Given the description of an element on the screen output the (x, y) to click on. 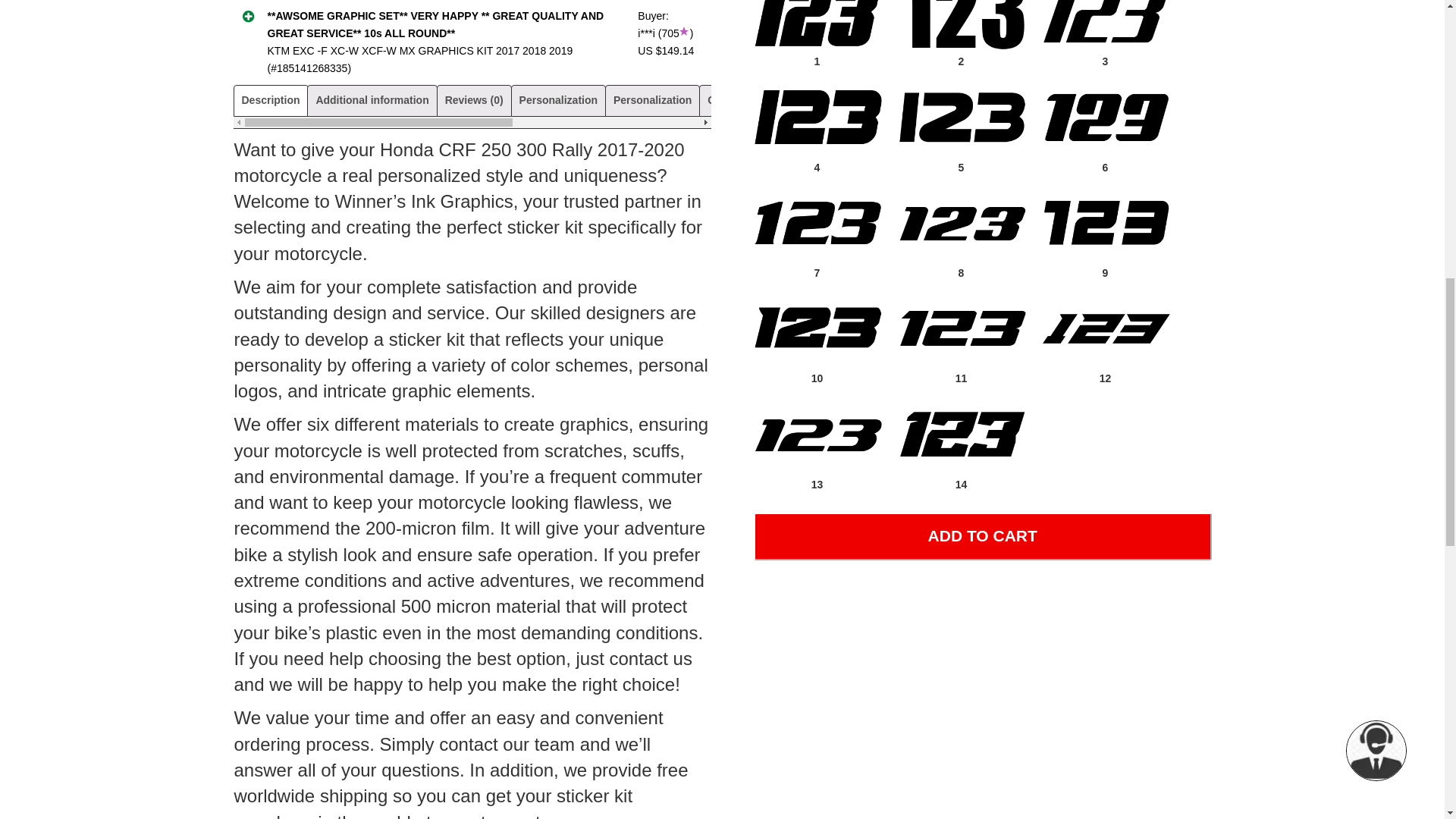
Additional information (371, 100)
NOTE (975, 100)
NOTE (1020, 100)
ADD TO CART (982, 536)
Personalization (651, 100)
Graphics kit includes: (762, 100)
Graphics kit includes: (889, 100)
Personalization (557, 100)
Description (270, 100)
